Given the description of an element on the screen output the (x, y) to click on. 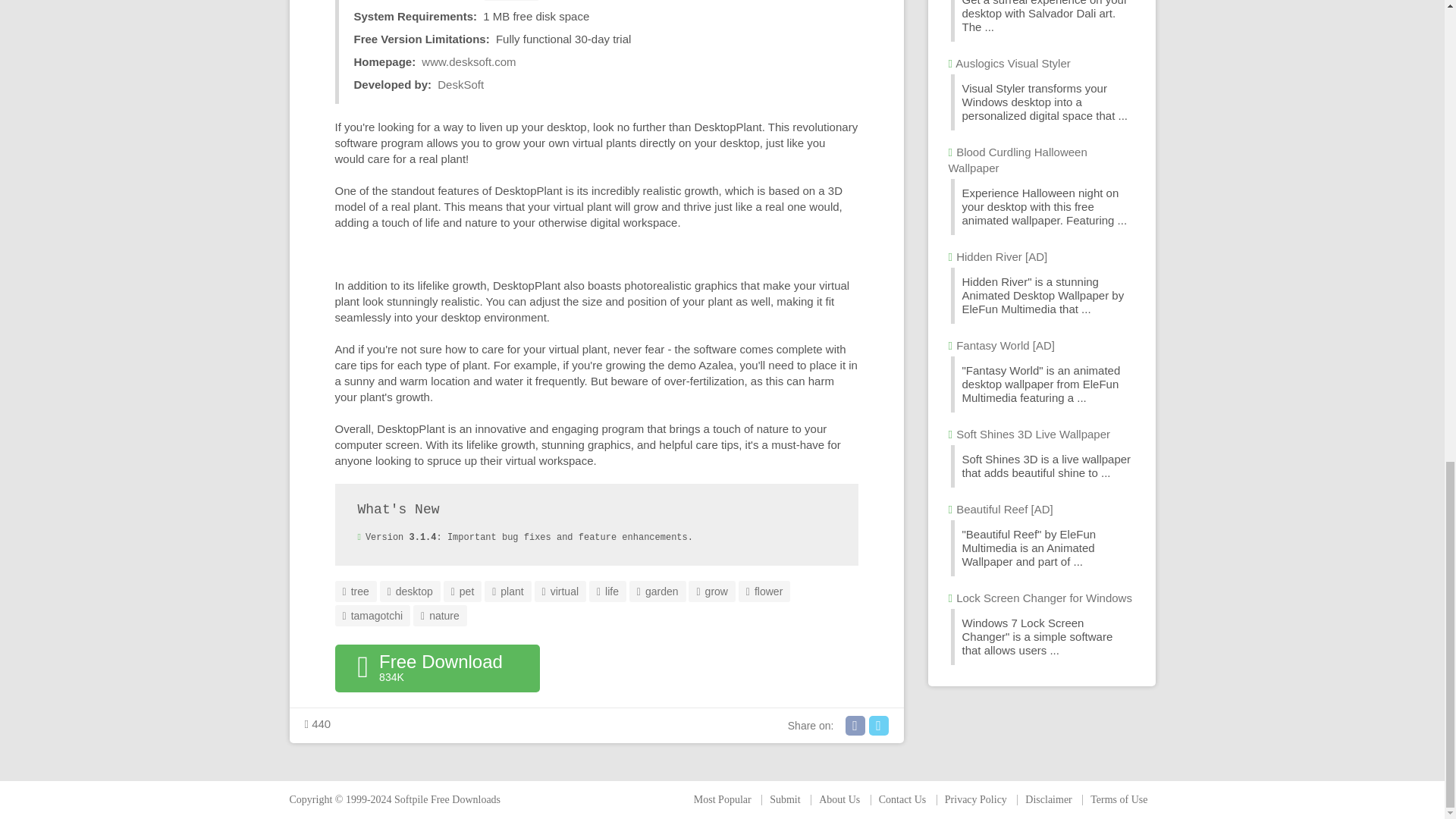
Download DesktopPlant 3.1.4 (437, 668)
